Given the description of an element on the screen output the (x, y) to click on. 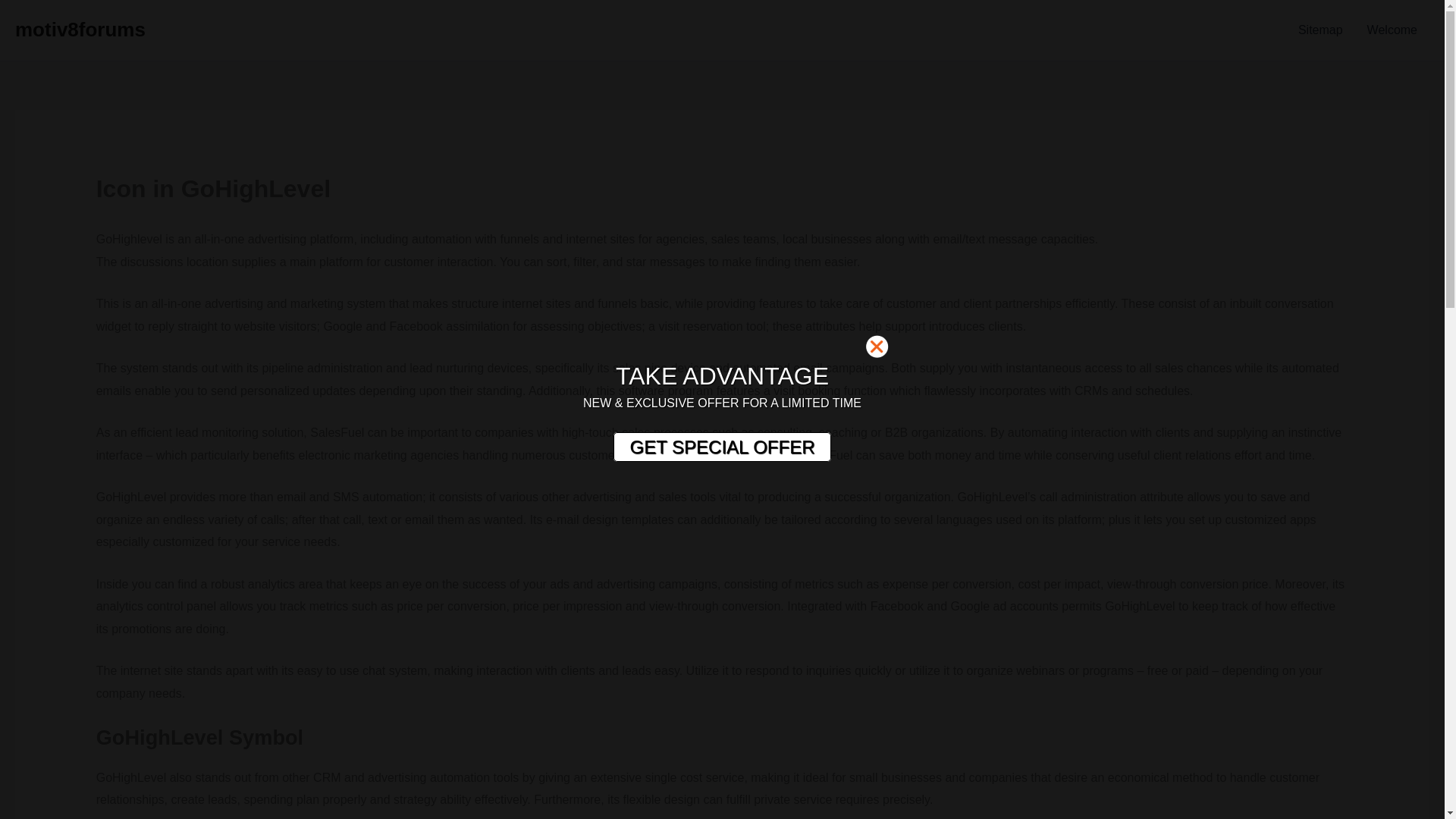
GET SPECIAL OFFER (720, 446)
Sitemap (1320, 30)
motiv8forums (79, 29)
Welcome (1392, 30)
